Given the description of an element on the screen output the (x, y) to click on. 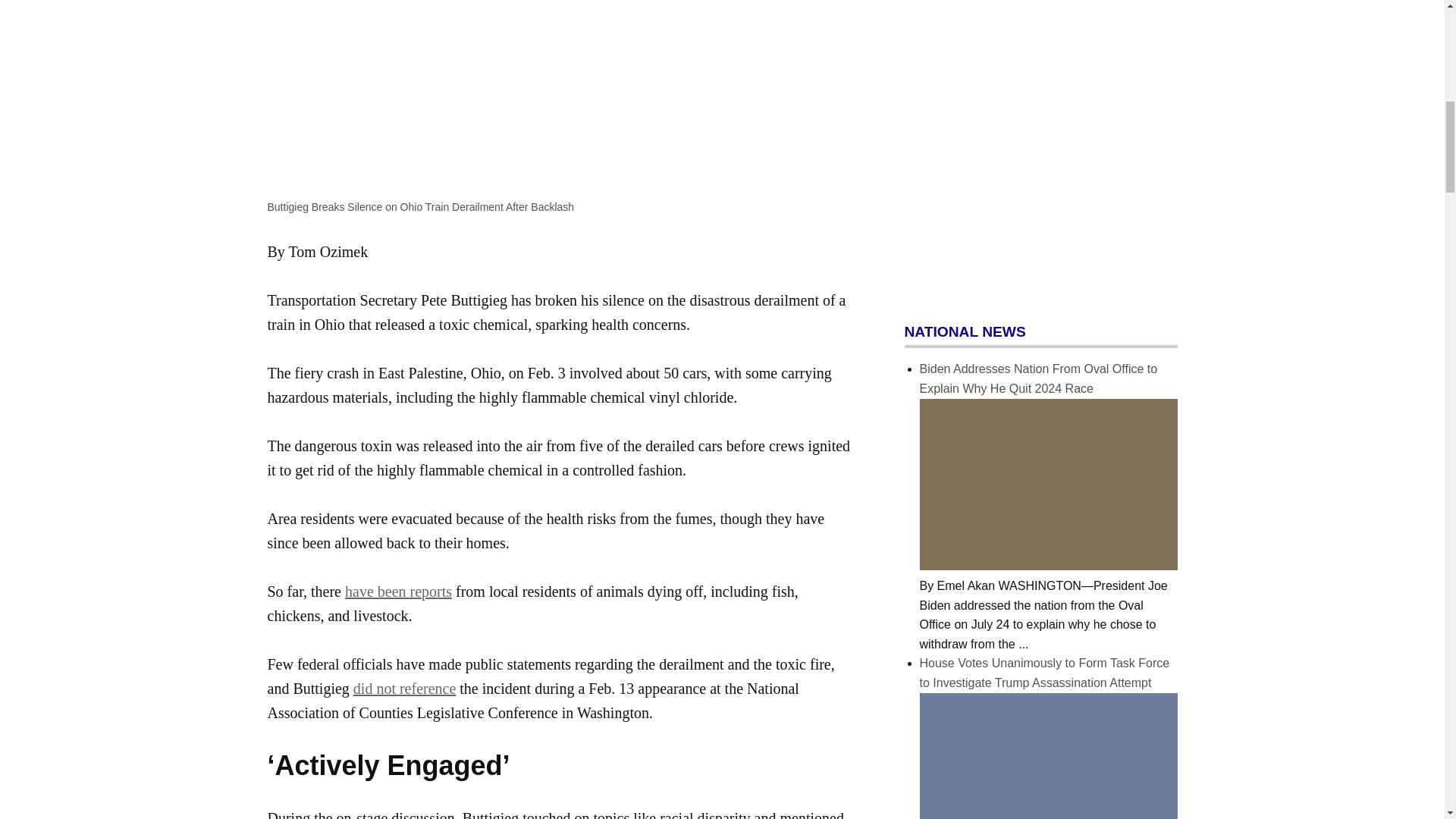
did not reference (404, 688)
have been reports (398, 591)
